Given the description of an element on the screen output the (x, y) to click on. 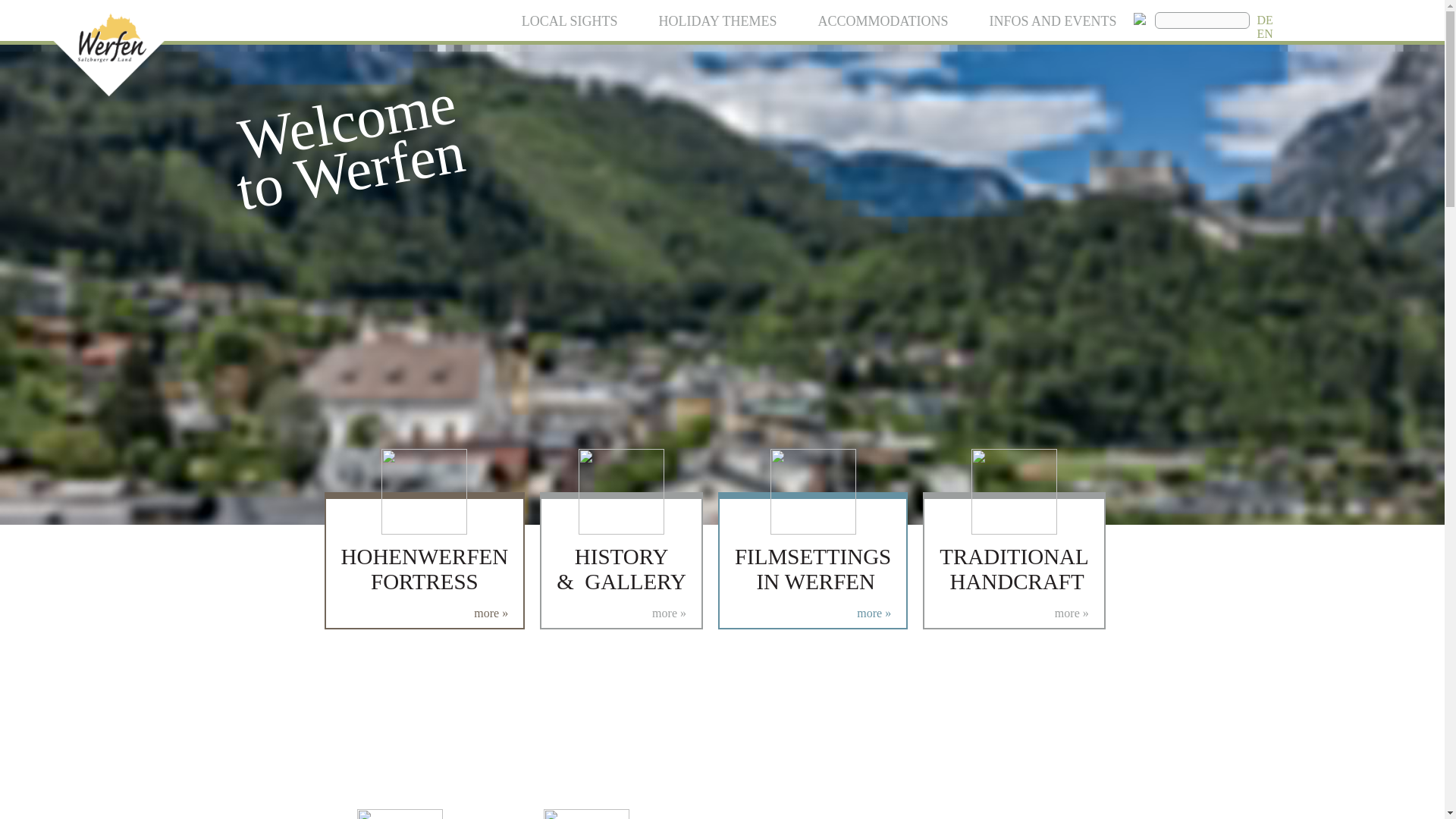
LOCAL SIGHTS (569, 22)
DE (1264, 20)
EN (1264, 33)
ACCOMMODATIONS (882, 22)
INFOS AND EVENTS (1052, 22)
HOLIDAY THEMES (718, 22)
